Given the description of an element on the screen output the (x, y) to click on. 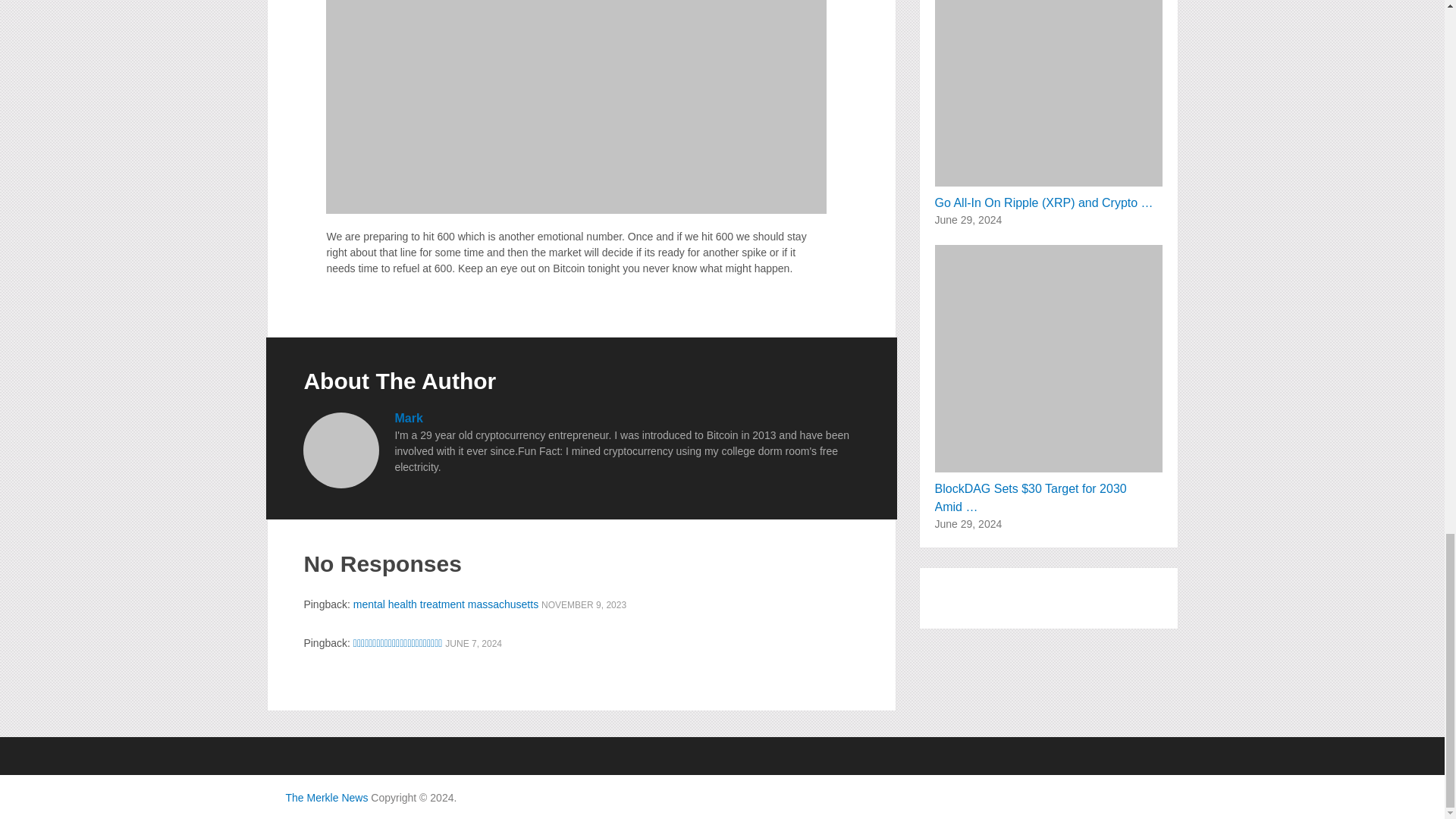
Mark (408, 418)
mental health treatment massachusetts (445, 604)
The Merkle News (326, 797)
